Given the description of an element on the screen output the (x, y) to click on. 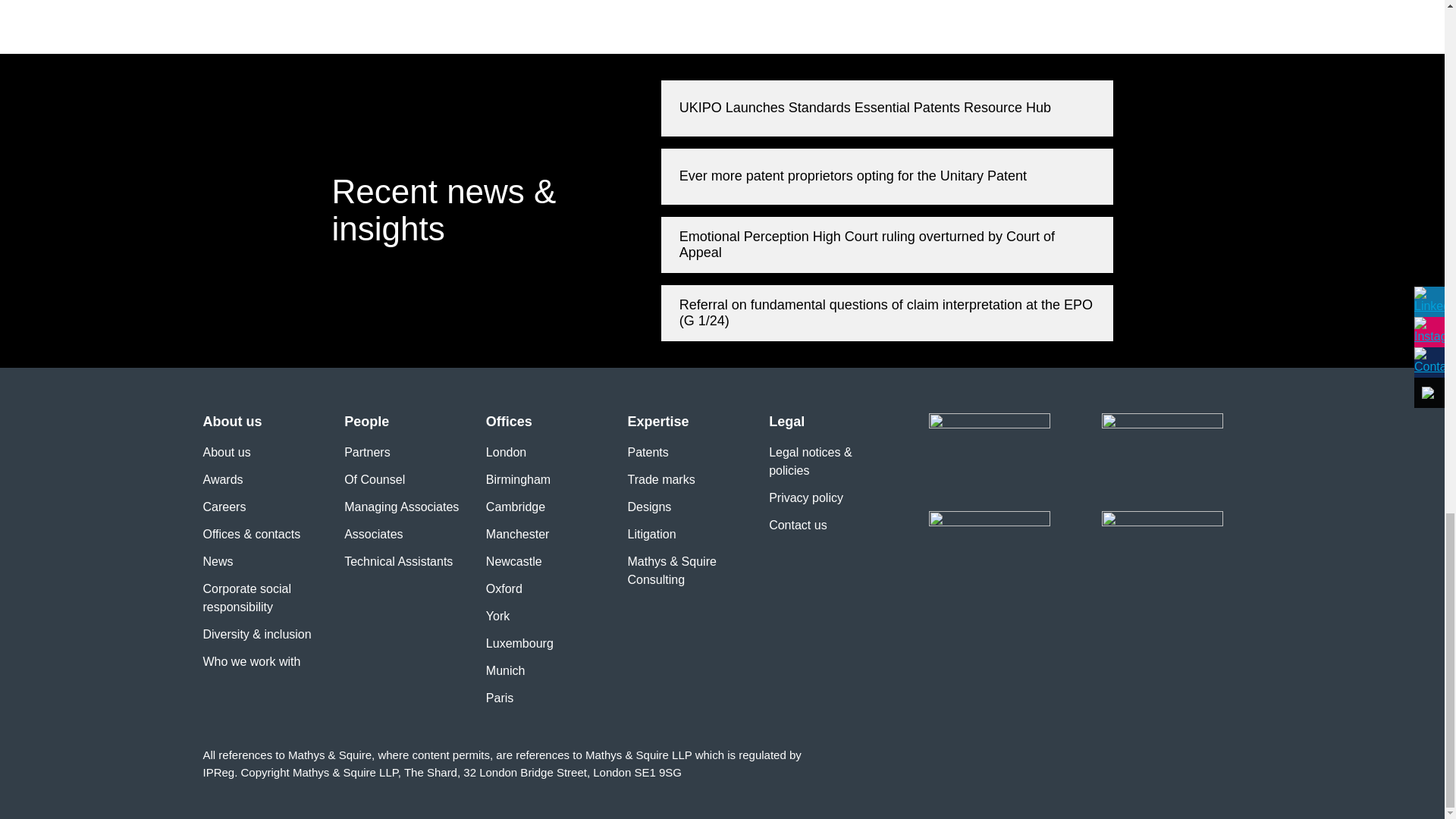
Mathys and Squire awards (1162, 529)
Mathys and Squire awards (988, 529)
Mathys and Squire awards (1162, 454)
Chambers (988, 454)
